Given the description of an element on the screen output the (x, y) to click on. 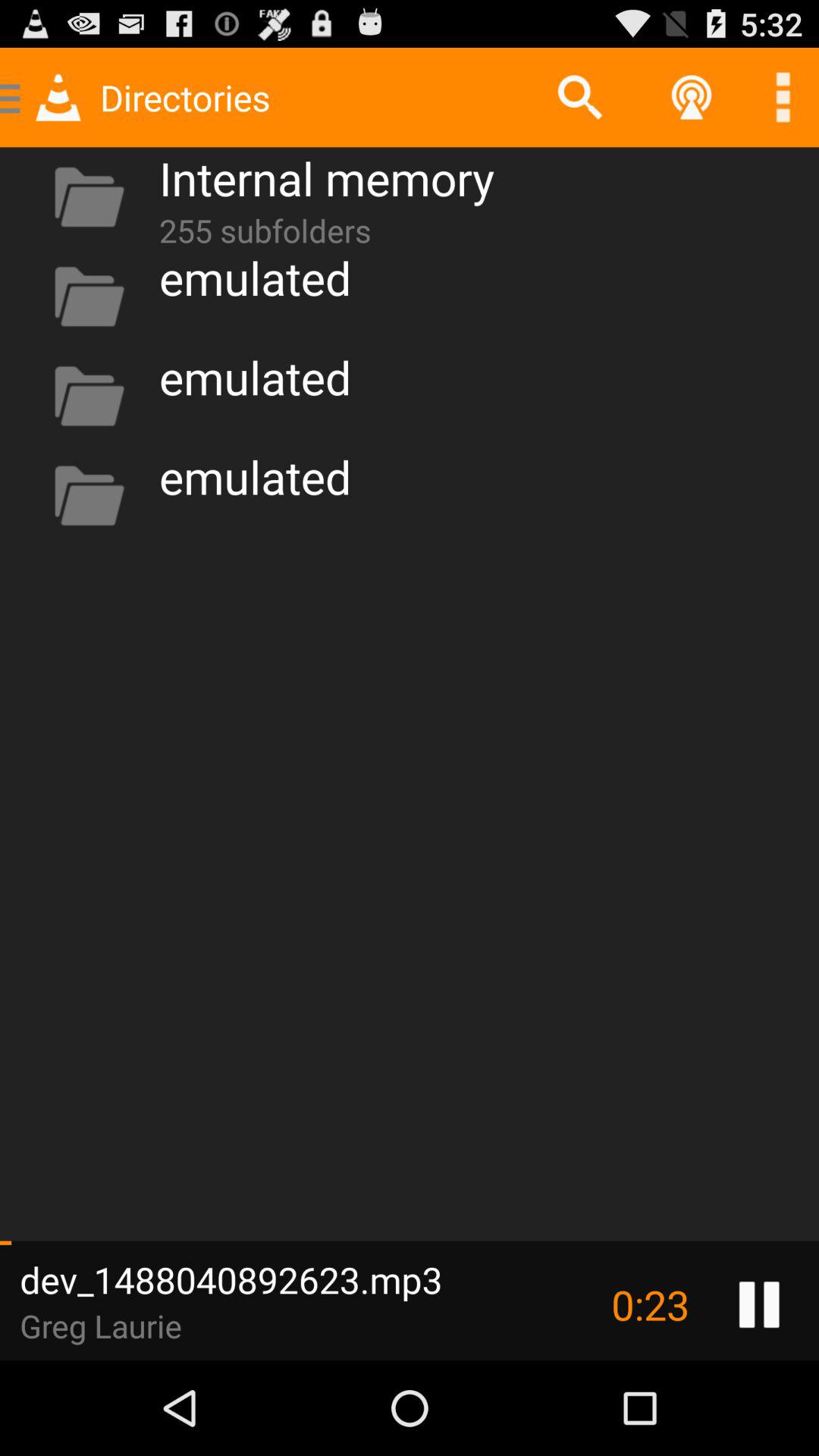
choose the internal memory (326, 177)
